Given the description of an element on the screen output the (x, y) to click on. 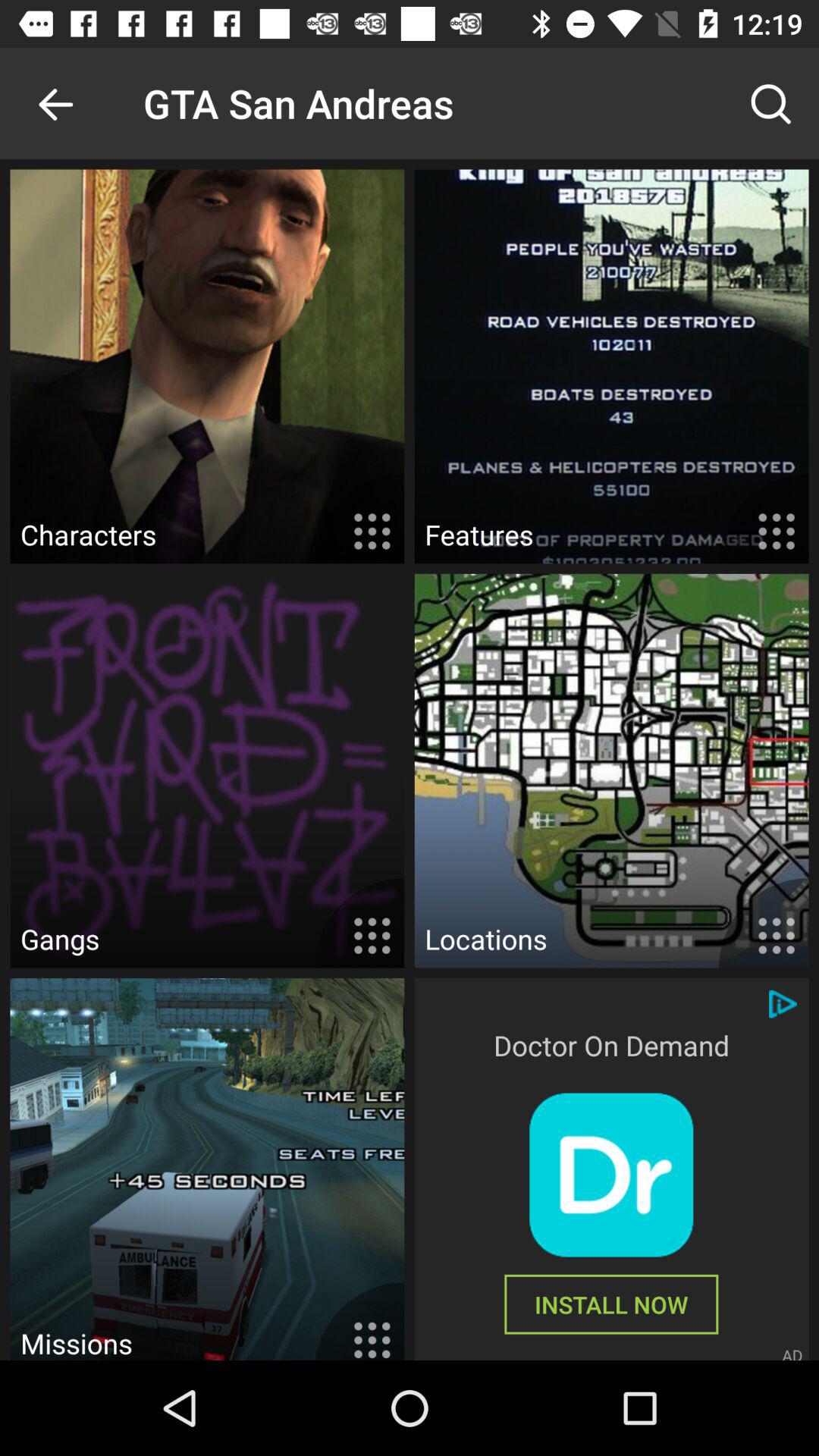
launch doctor on demand icon (611, 1045)
